Given the description of an element on the screen output the (x, y) to click on. 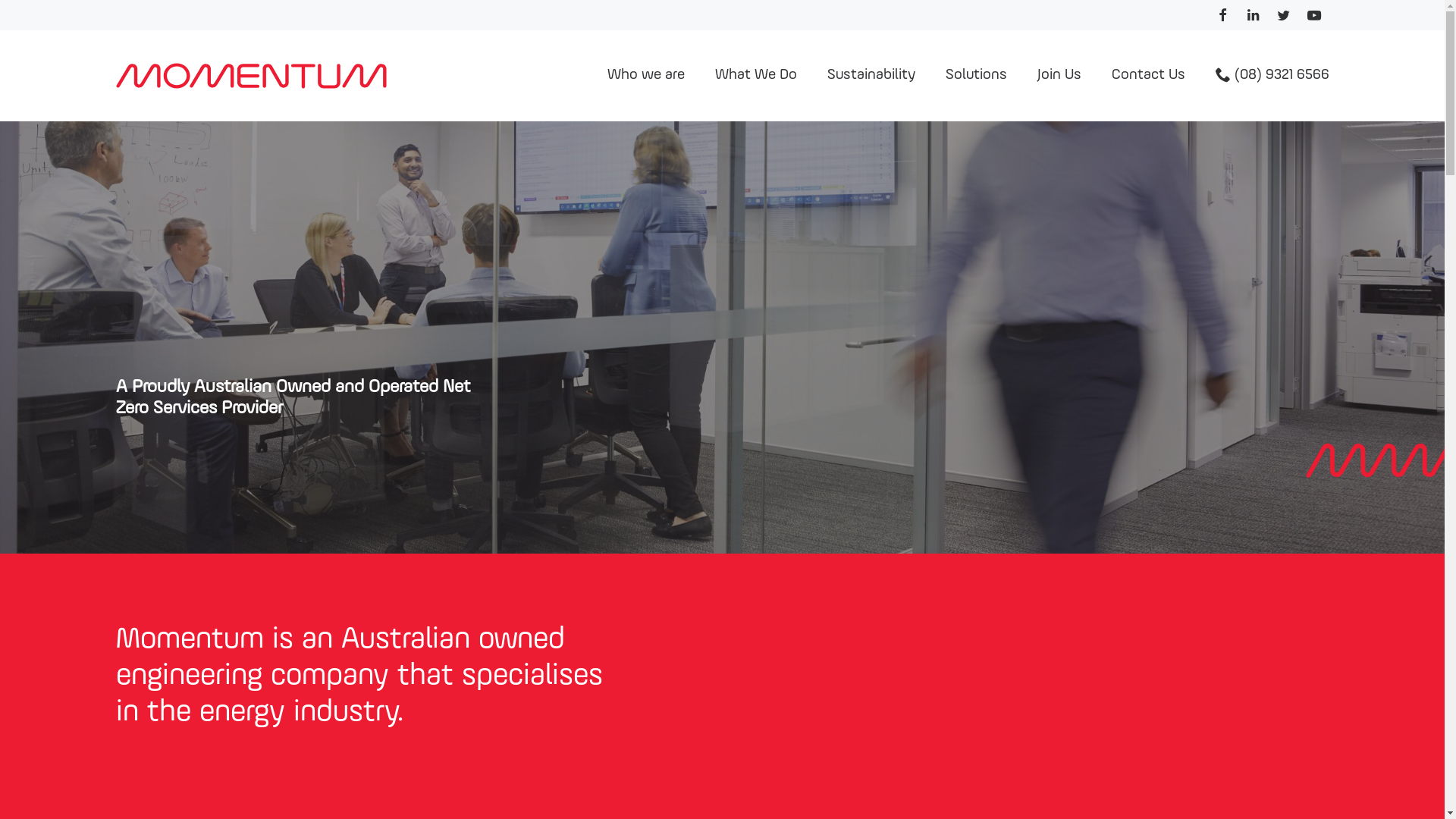
What We Do Element type: text (755, 75)
Join Us Element type: text (1059, 75)
(08) 9321 6566 Element type: text (1271, 75)
Solutions Element type: text (975, 75)
Who we are Element type: text (645, 75)
Contact Us Element type: text (1148, 75)
Sustainability Element type: text (870, 75)
